Given the description of an element on the screen output the (x, y) to click on. 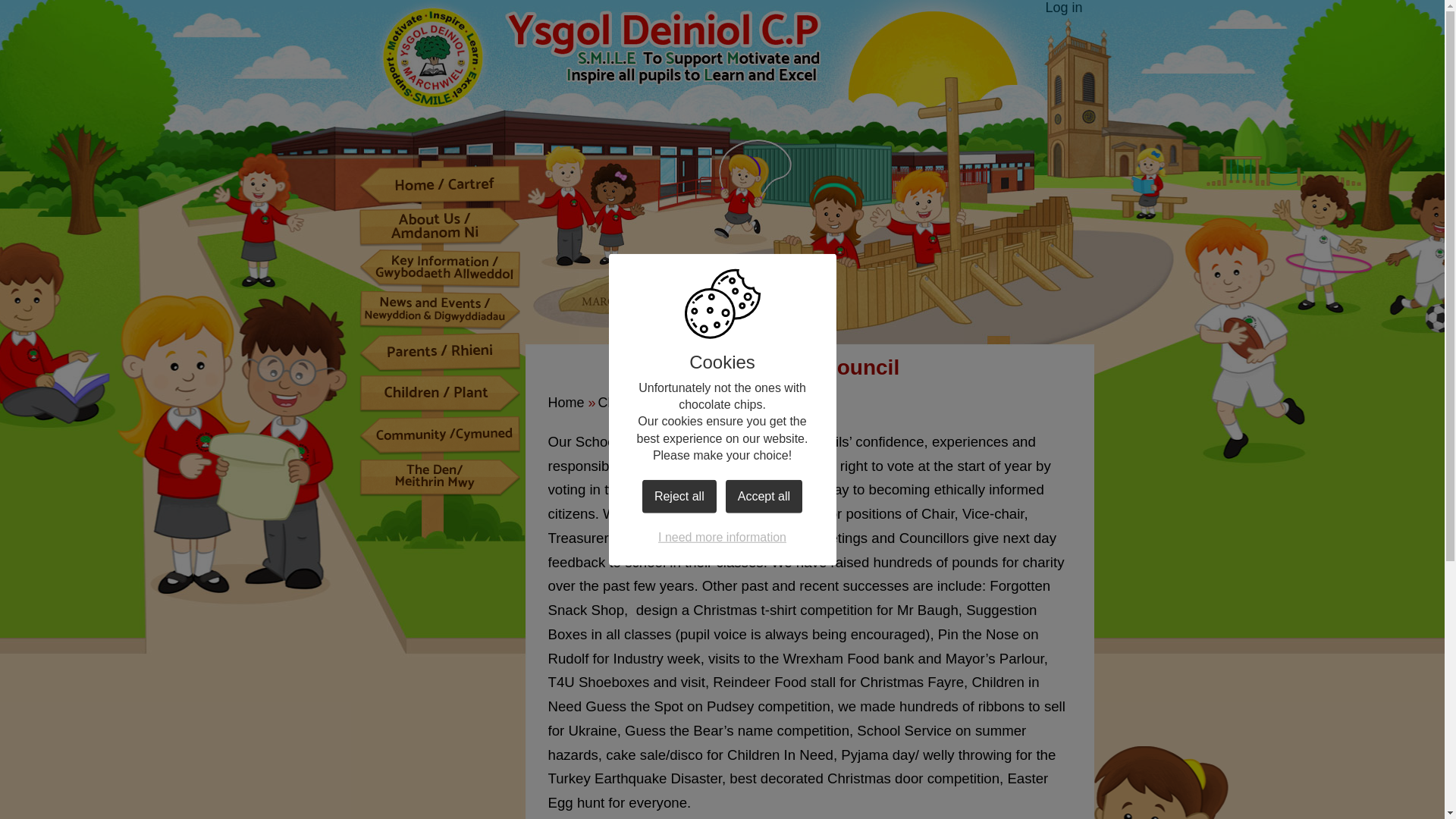
Our School Council (763, 402)
Home Page (601, 56)
Log in (1063, 8)
Home (438, 185)
Home Page (601, 56)
Home (565, 402)
